Given the description of an element on the screen output the (x, y) to click on. 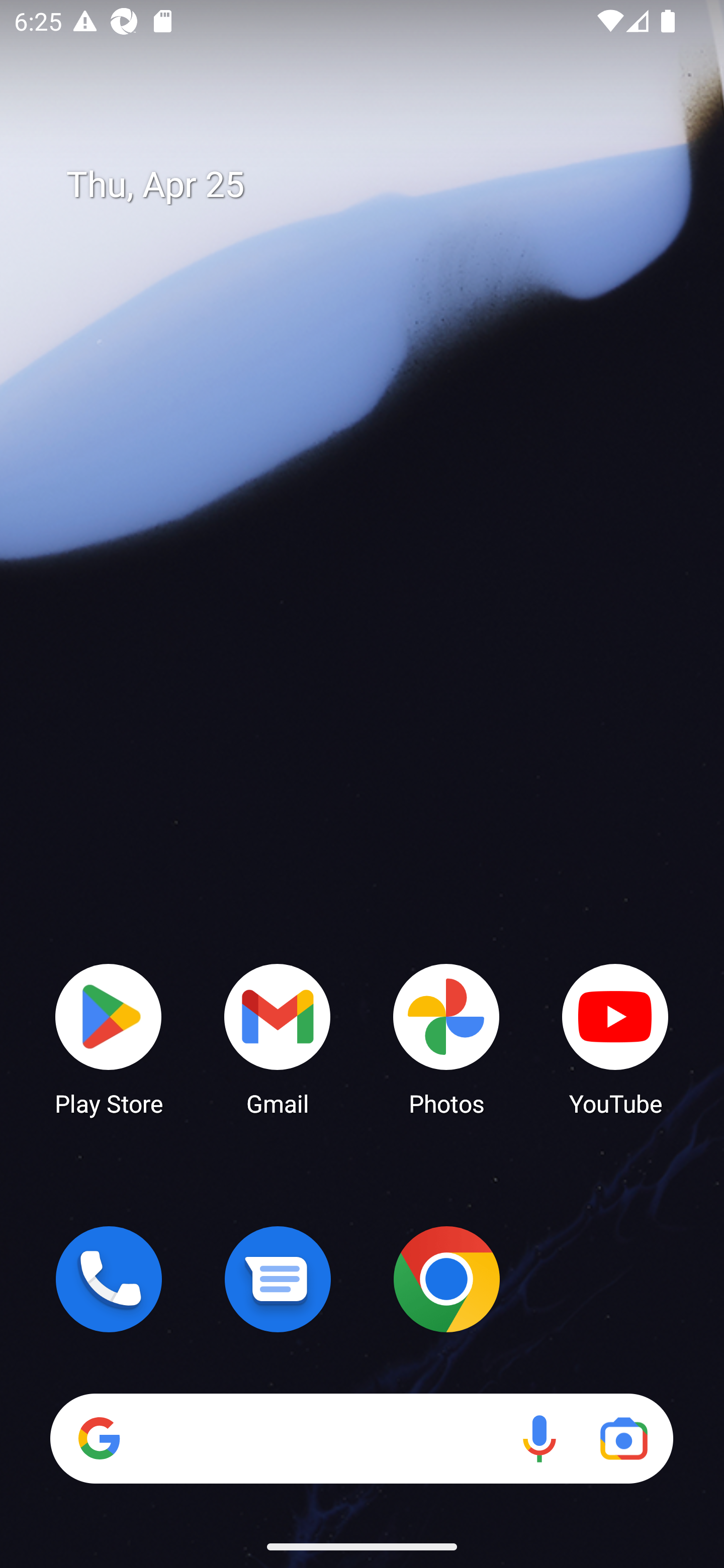
Thu, Apr 25 (375, 184)
Play Store (108, 1038)
Gmail (277, 1038)
Photos (445, 1038)
YouTube (615, 1038)
Phone (108, 1279)
Messages (277, 1279)
Chrome (446, 1279)
Search Voice search Google Lens (361, 1438)
Voice search (539, 1438)
Google Lens (623, 1438)
